Given the description of an element on the screen output the (x, y) to click on. 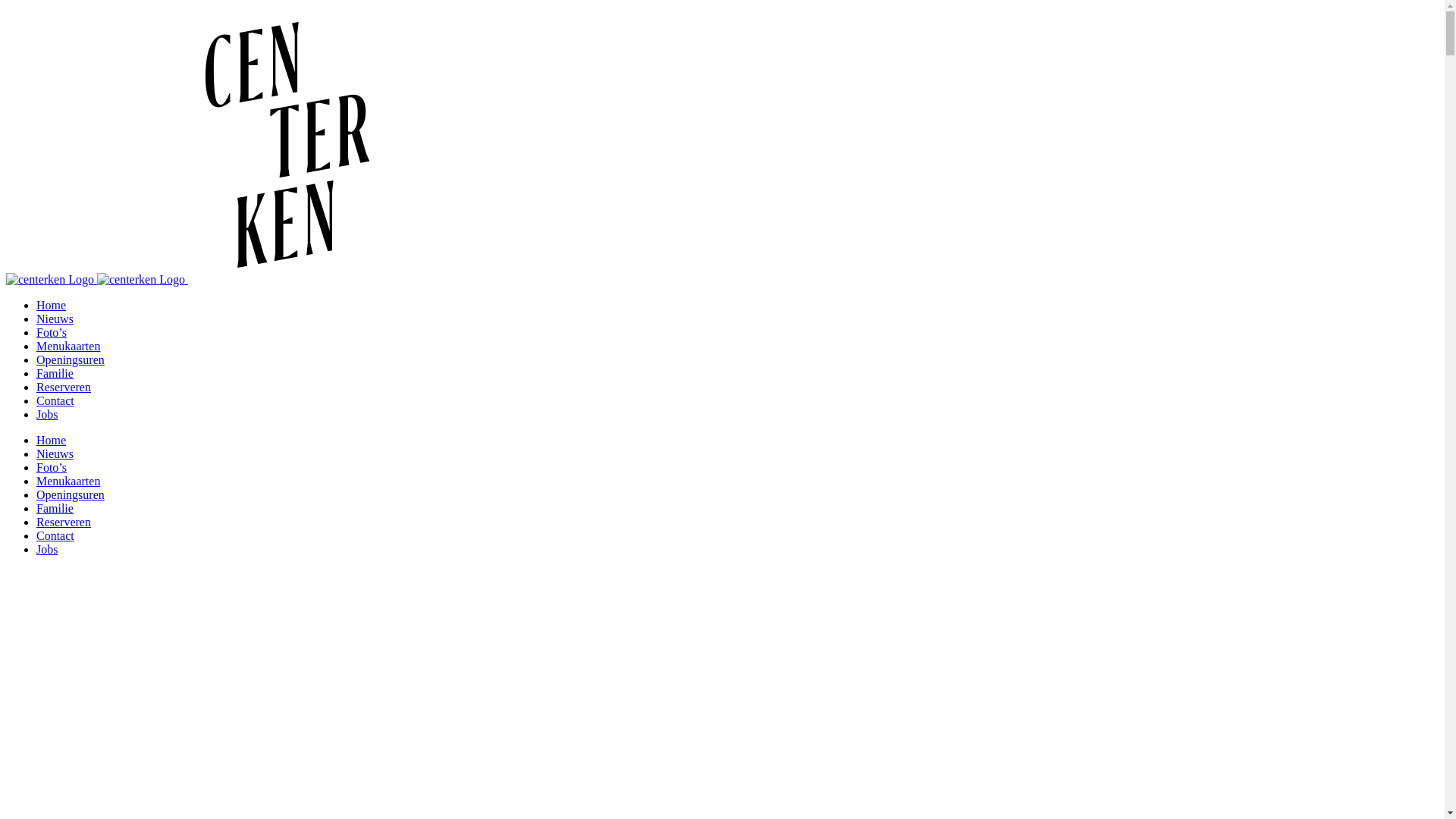
Jobs Element type: text (46, 413)
Jobs Element type: text (46, 548)
Familie Element type: text (54, 373)
Nieuws Element type: text (54, 453)
Openingsuren Element type: text (70, 494)
Nieuws Element type: text (54, 318)
Menukaarten Element type: text (68, 345)
Home Element type: text (50, 439)
Reserveren Element type: text (63, 386)
Contact Element type: text (55, 400)
Skip to content Element type: text (5, 5)
Menukaarten Element type: text (68, 480)
Contact Element type: text (55, 535)
Openingsuren Element type: text (70, 359)
Reserveren Element type: text (63, 521)
Familie Element type: text (54, 508)
Home Element type: text (50, 304)
